Given the description of an element on the screen output the (x, y) to click on. 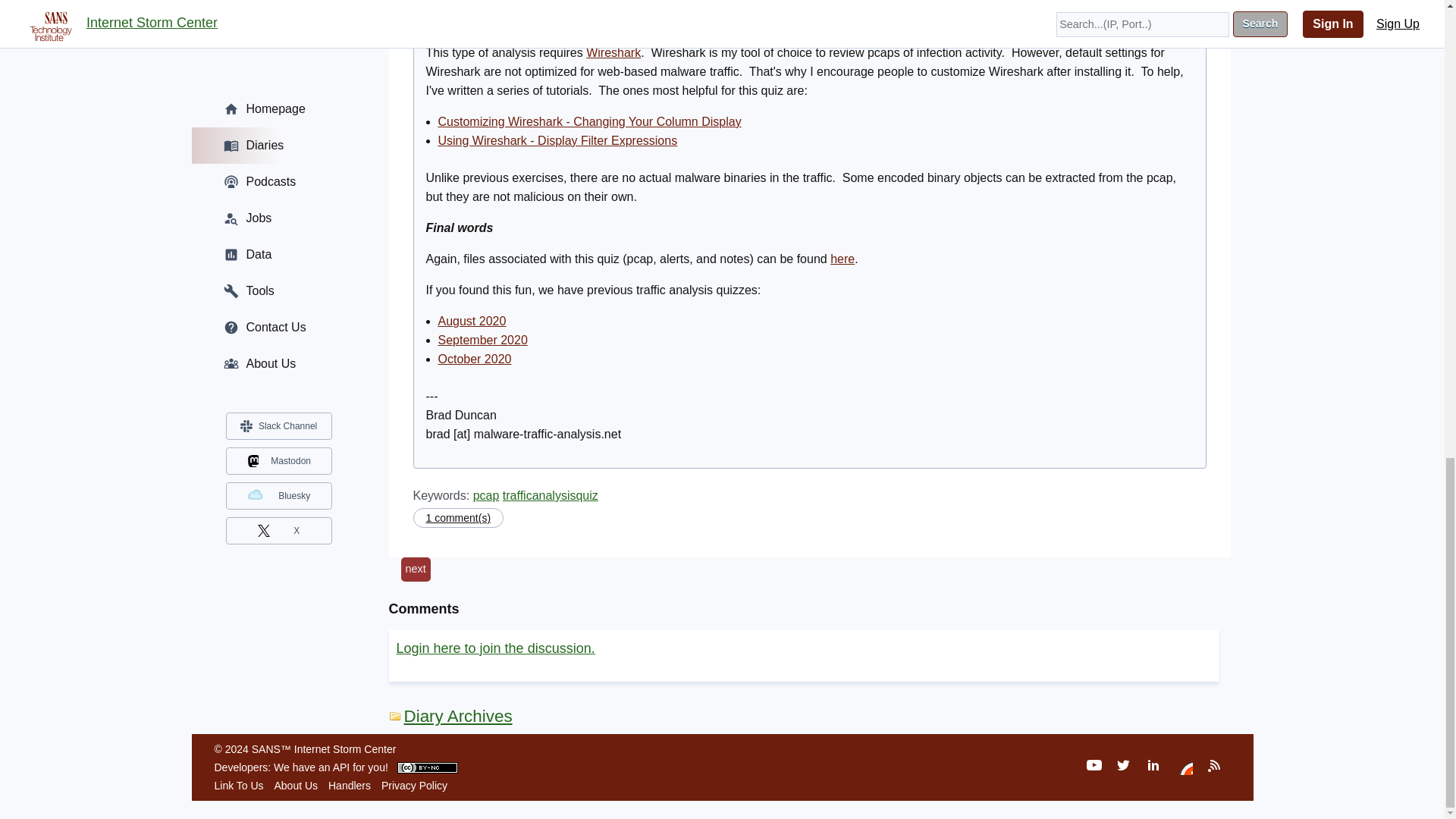
September 2020 (482, 339)
pcap (486, 495)
trafficanalysisquiz (550, 495)
Diary Archives (450, 715)
October 2020 (475, 358)
Customizing Wireshark - Changing Your Column Display (589, 121)
next (414, 569)
here (841, 258)
Using Wireshark - Display Filter Expressions (558, 140)
August 2020 (472, 320)
Login here to join the discussion. (495, 648)
Wireshark (613, 51)
